Given the description of an element on the screen output the (x, y) to click on. 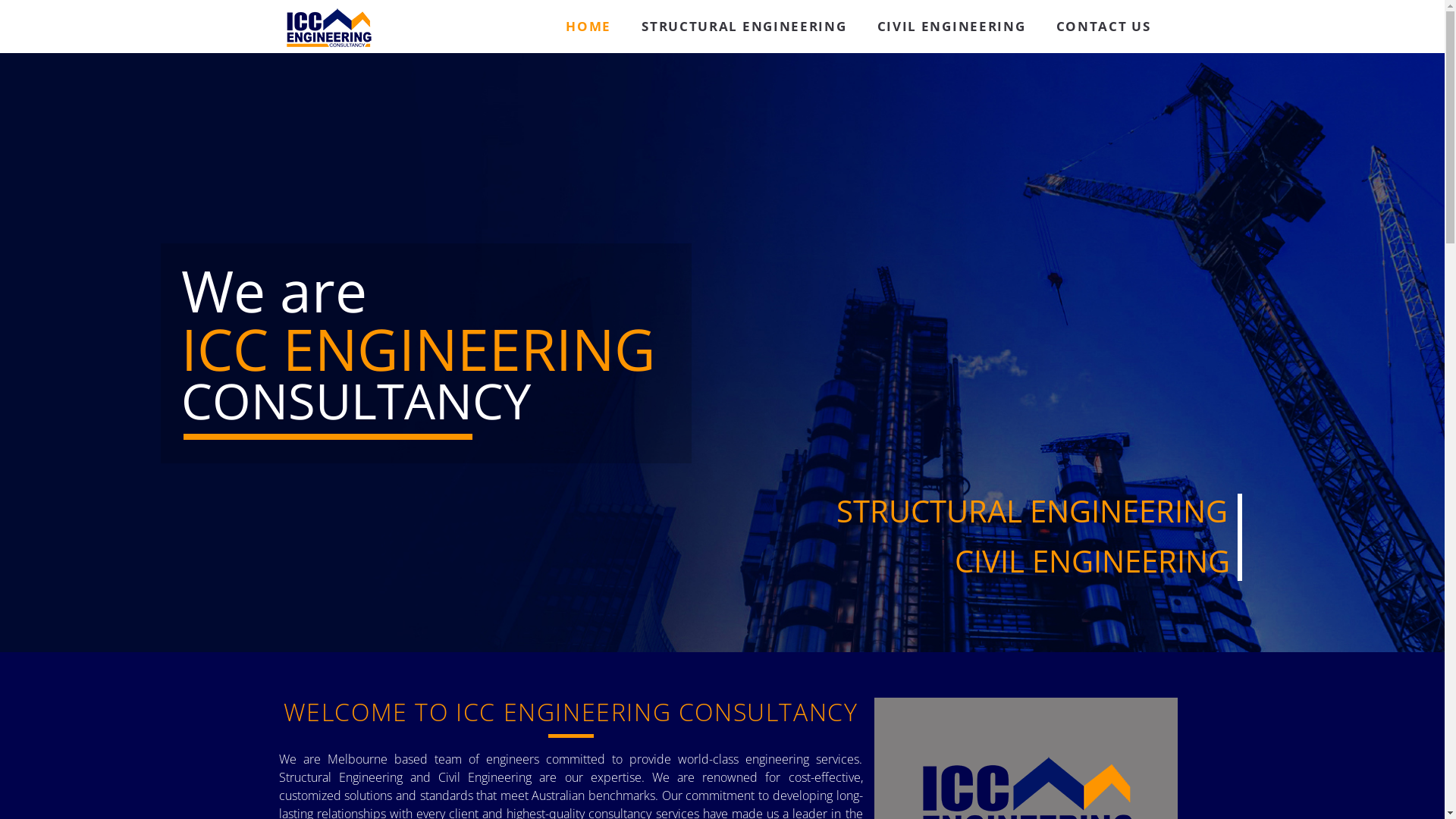
CONTACT US Element type: text (1102, 26)
CIVIL ENGINEERING Element type: text (951, 26)
STRUCTURAL ENGINEERING Element type: text (743, 26)
HOME Element type: text (588, 26)
